Given the description of an element on the screen output the (x, y) to click on. 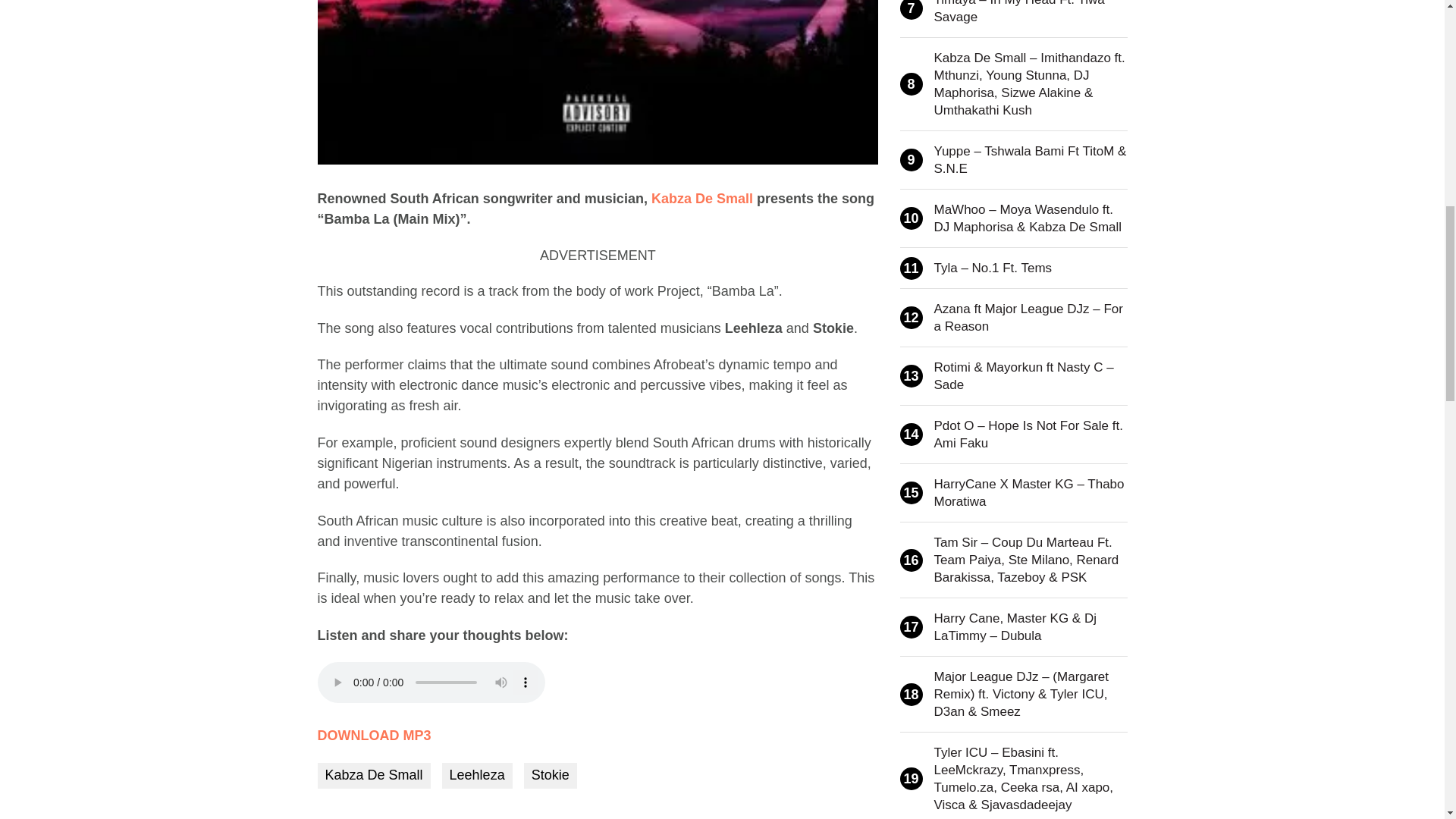
DOWNLOAD MP3 (373, 735)
Kabza De Small (373, 775)
Stokie (550, 775)
Leehleza (477, 775)
Kabza De Small (701, 198)
